Given the description of an element on the screen output the (x, y) to click on. 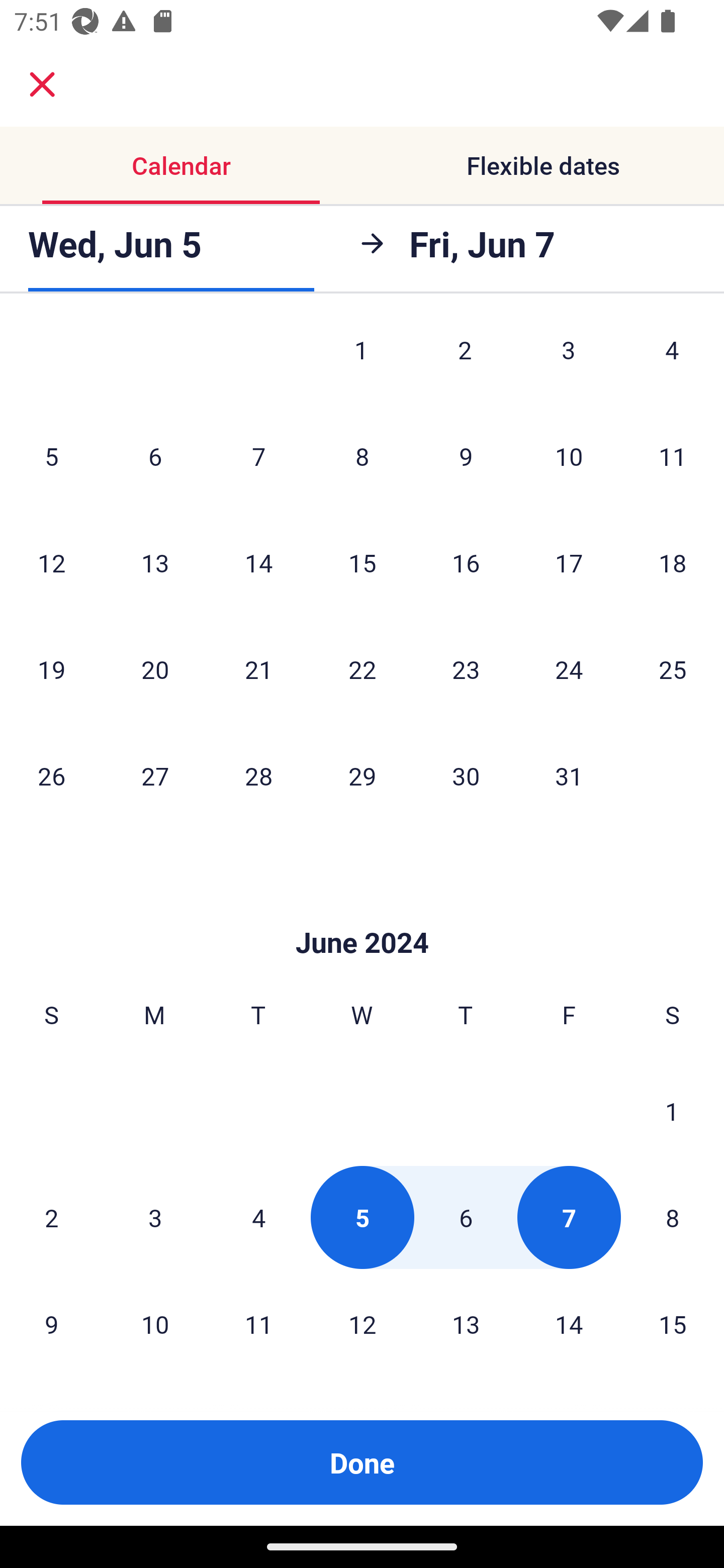
close. (42, 84)
Flexible dates (542, 164)
1 Wednesday, May 1, 2024 (361, 361)
2 Thursday, May 2, 2024 (464, 361)
3 Friday, May 3, 2024 (568, 361)
4 Saturday, May 4, 2024 (672, 361)
5 Sunday, May 5, 2024 (51, 456)
6 Monday, May 6, 2024 (155, 456)
7 Tuesday, May 7, 2024 (258, 456)
8 Wednesday, May 8, 2024 (362, 456)
9 Thursday, May 9, 2024 (465, 456)
10 Friday, May 10, 2024 (569, 456)
11 Saturday, May 11, 2024 (672, 456)
12 Sunday, May 12, 2024 (51, 562)
13 Monday, May 13, 2024 (155, 562)
14 Tuesday, May 14, 2024 (258, 562)
15 Wednesday, May 15, 2024 (362, 562)
16 Thursday, May 16, 2024 (465, 562)
17 Friday, May 17, 2024 (569, 562)
18 Saturday, May 18, 2024 (672, 562)
19 Sunday, May 19, 2024 (51, 669)
20 Monday, May 20, 2024 (155, 669)
21 Tuesday, May 21, 2024 (258, 669)
22 Wednesday, May 22, 2024 (362, 669)
23 Thursday, May 23, 2024 (465, 669)
24 Friday, May 24, 2024 (569, 669)
25 Saturday, May 25, 2024 (672, 669)
26 Sunday, May 26, 2024 (51, 775)
27 Monday, May 27, 2024 (155, 775)
28 Tuesday, May 28, 2024 (258, 775)
29 Wednesday, May 29, 2024 (362, 775)
30 Thursday, May 30, 2024 (465, 775)
31 Friday, May 31, 2024 (569, 775)
Skip to Done (362, 912)
1 Saturday, June 1, 2024 (672, 1110)
2 Sunday, June 2, 2024 (51, 1217)
3 Monday, June 3, 2024 (155, 1217)
4 Tuesday, June 4, 2024 (258, 1217)
8 Saturday, June 8, 2024 (672, 1217)
9 Sunday, June 9, 2024 (51, 1324)
10 Monday, June 10, 2024 (155, 1324)
11 Tuesday, June 11, 2024 (258, 1324)
12 Wednesday, June 12, 2024 (362, 1324)
13 Thursday, June 13, 2024 (465, 1324)
14 Friday, June 14, 2024 (569, 1324)
15 Saturday, June 15, 2024 (672, 1324)
Done (361, 1462)
